Given the description of an element on the screen output the (x, y) to click on. 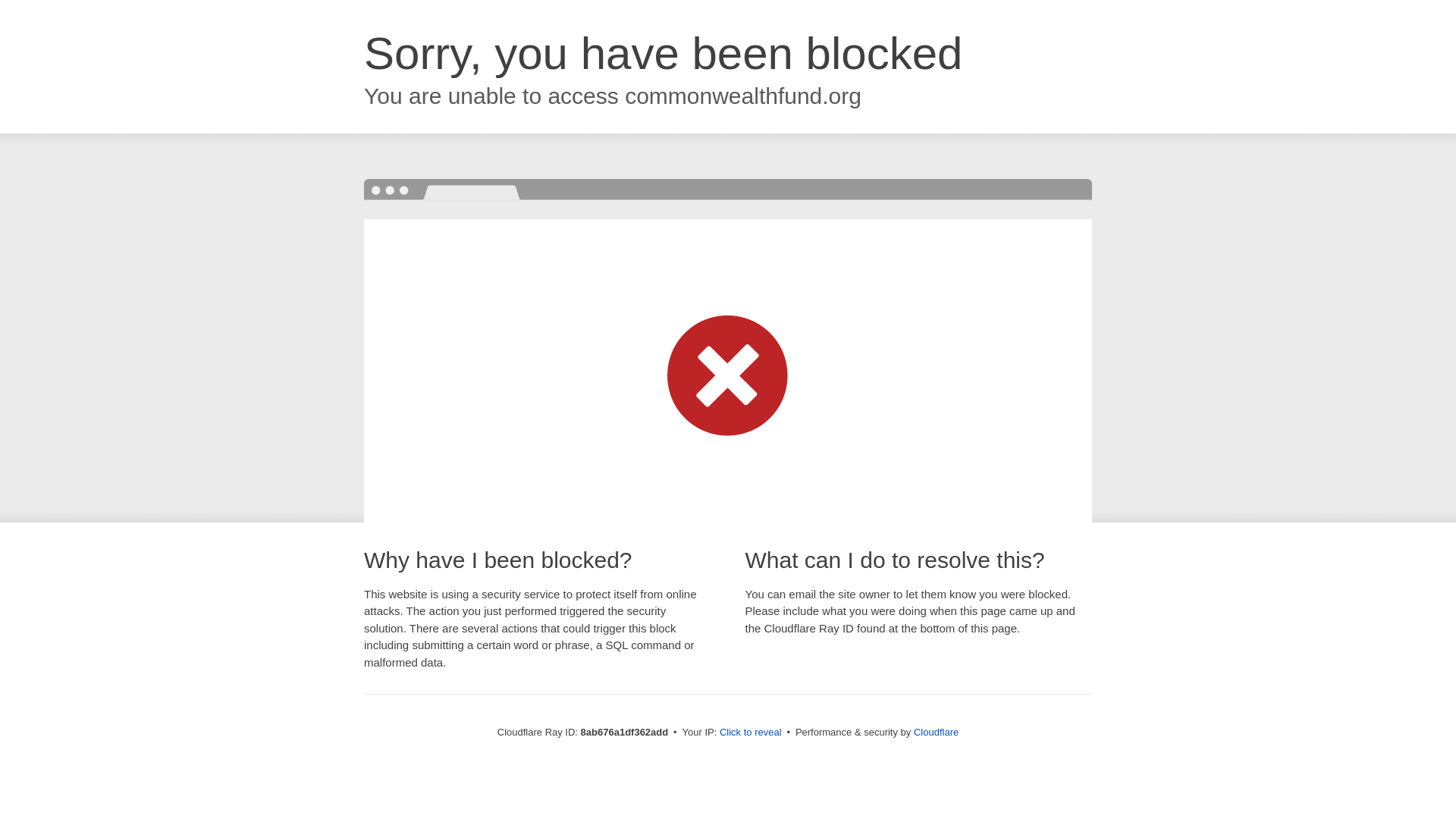
Cloudflare (936, 731)
Click to reveal (750, 732)
